Given the description of an element on the screen output the (x, y) to click on. 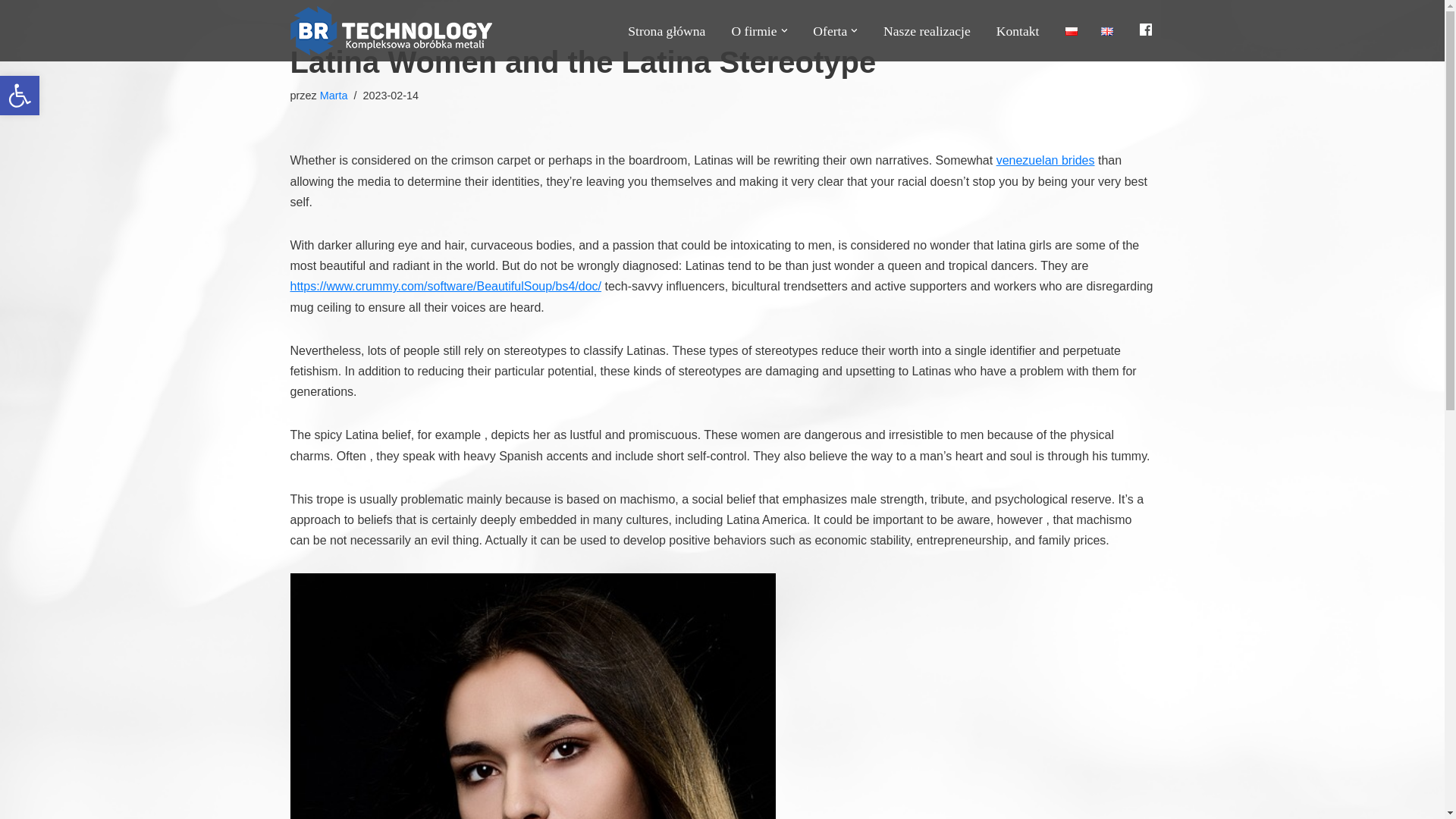
Wpisy od Marta (333, 95)
O firmie (753, 30)
Kontakt (1017, 30)
Nasze realizacje (927, 30)
